Given the description of an element on the screen output the (x, y) to click on. 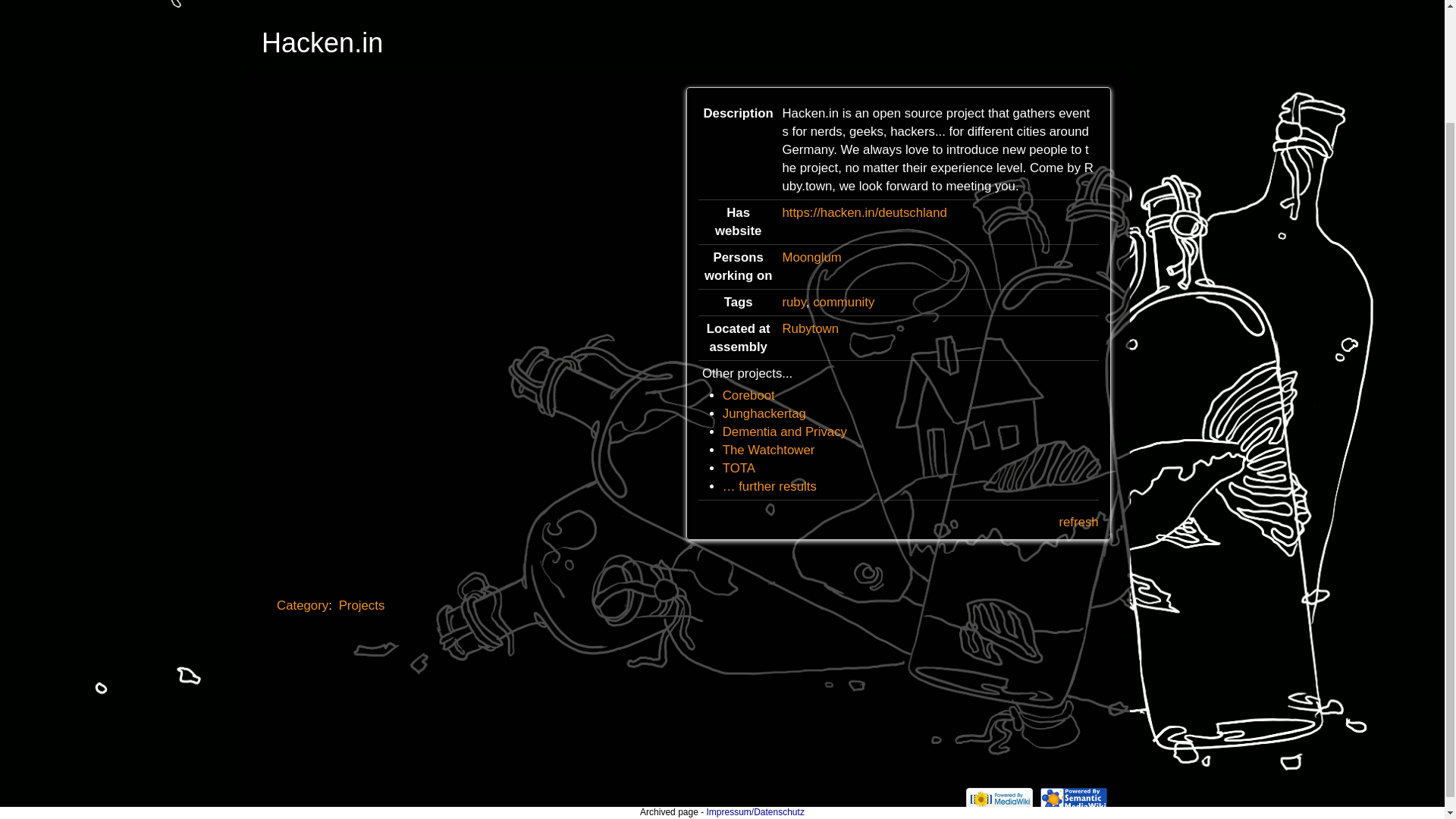
Dementia and Privacy (784, 431)
community (843, 301)
User:Moonglum (811, 257)
Projects:Coreboot (748, 395)
ruby (793, 301)
Projects:The Watchtower (768, 450)
Junghackertag (764, 413)
Category (302, 605)
Projects (362, 605)
refresh (1077, 522)
